Given the description of an element on the screen output the (x, y) to click on. 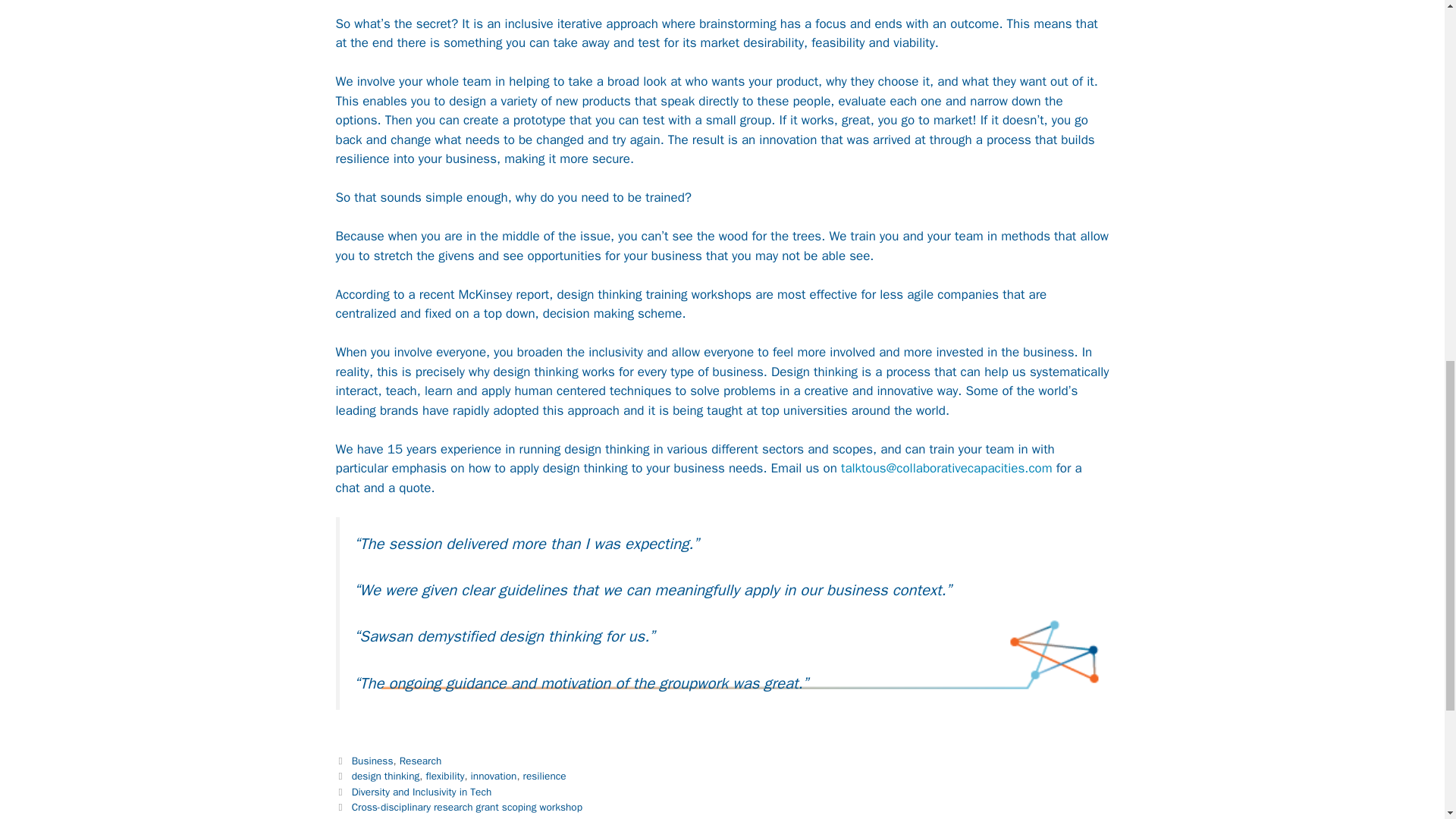
Scroll back to top (1406, 720)
Cross-disciplinary research grant scoping workshop (467, 807)
Research (420, 760)
resilience (544, 775)
design thinking (386, 775)
Business (372, 760)
innovation (493, 775)
flexibility (444, 775)
Diversity and Inclusivity in Tech (422, 791)
